Given the description of an element on the screen output the (x, y) to click on. 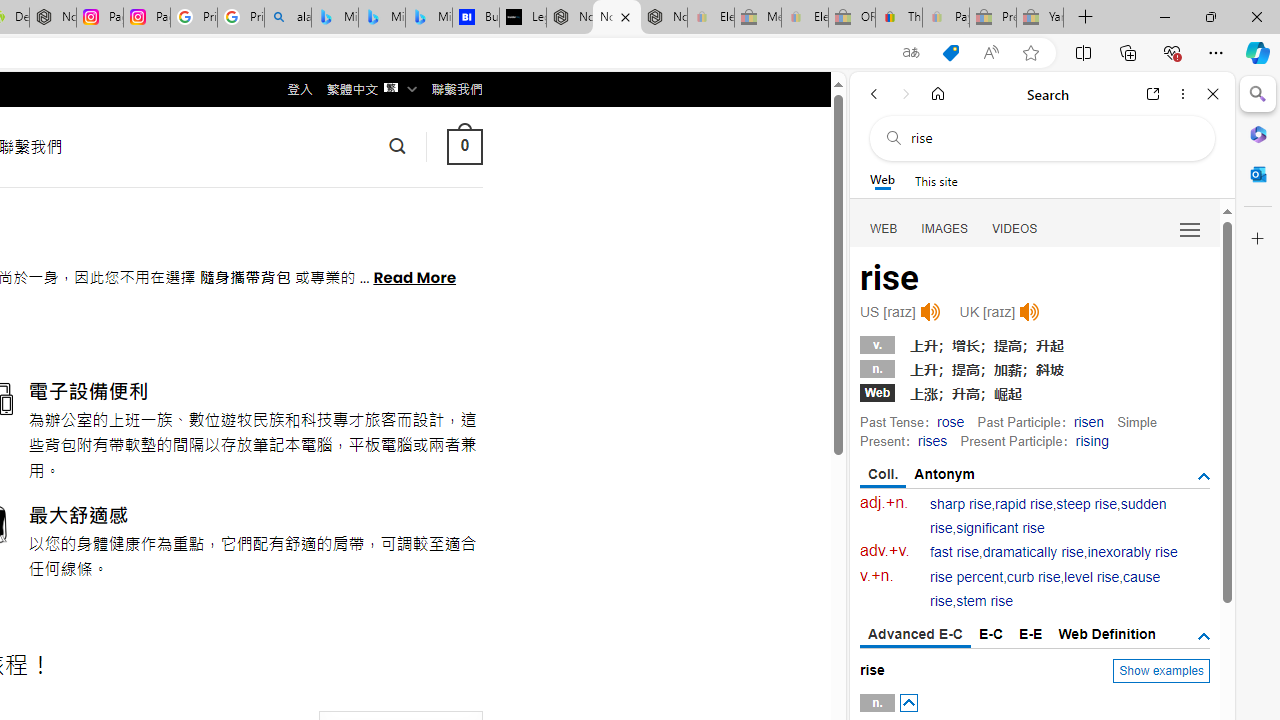
fast rise (955, 552)
Preferences (1189, 228)
Click to listen (1029, 312)
E-C (991, 633)
